Given the description of an element on the screen output the (x, y) to click on. 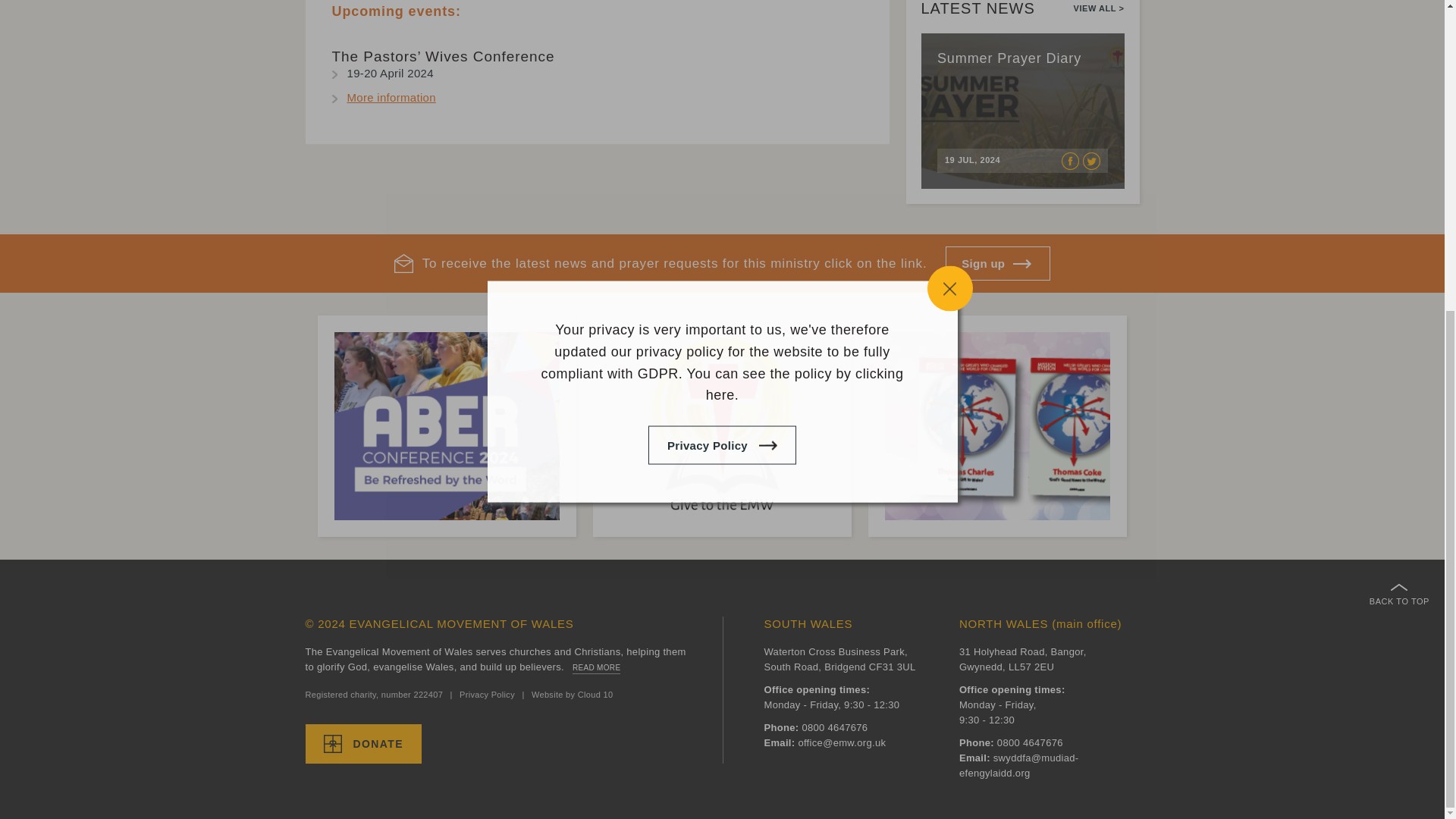
More information (391, 97)
